Given the description of an element on the screen output the (x, y) to click on. 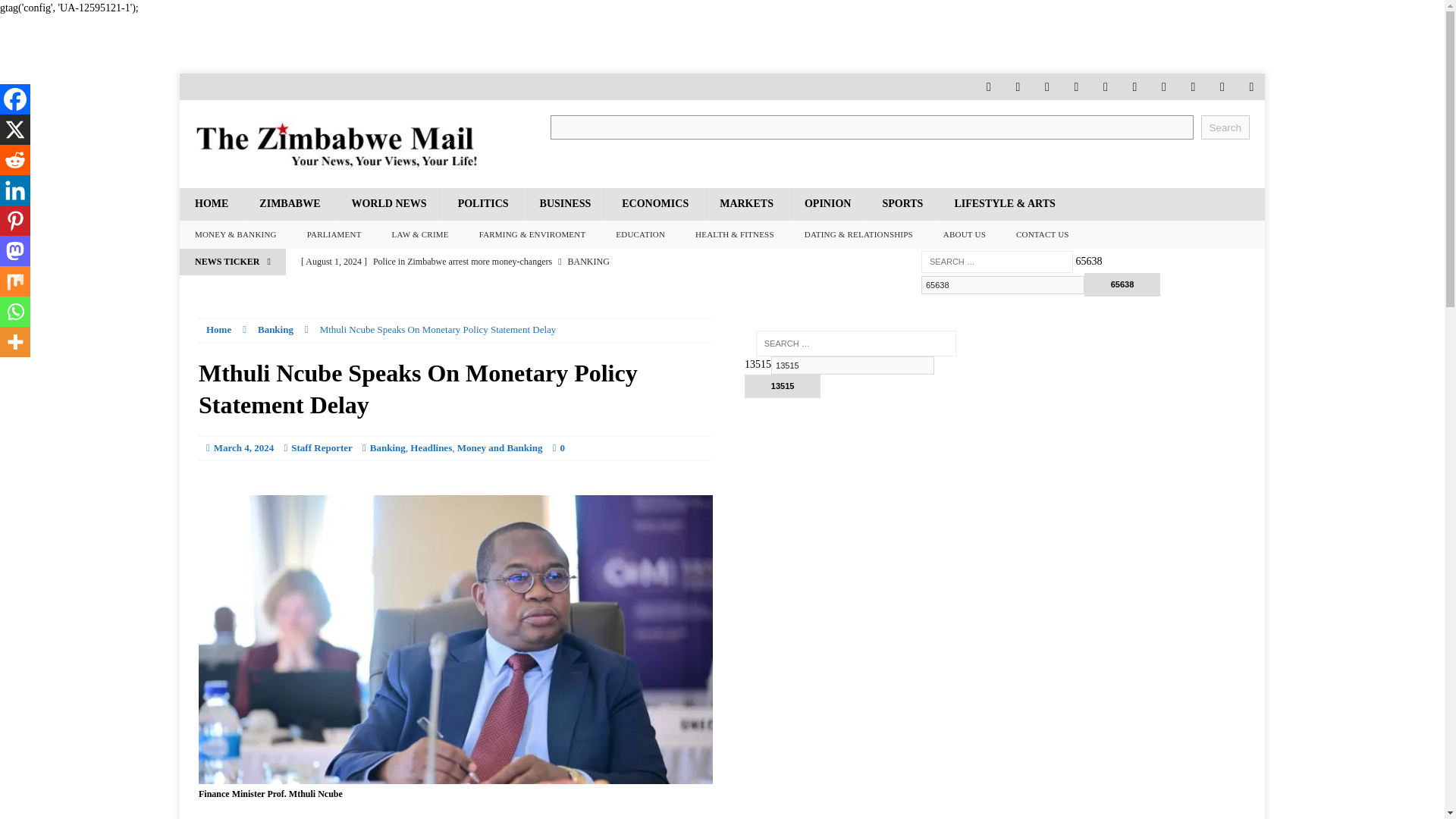
The Zimbabwe Mail (350, 143)
ABOUT US (964, 234)
MARKETS (746, 204)
13515 (782, 386)
CONTACT US (1042, 234)
HOME (211, 204)
Search (1225, 127)
13515 (782, 386)
OPINION (827, 204)
PARLIAMENT (334, 234)
13515 (852, 365)
WORLD NEWS (387, 204)
65638 (1122, 284)
ECONOMICS (654, 204)
65638 (1002, 285)
